Given the description of an element on the screen output the (x, y) to click on. 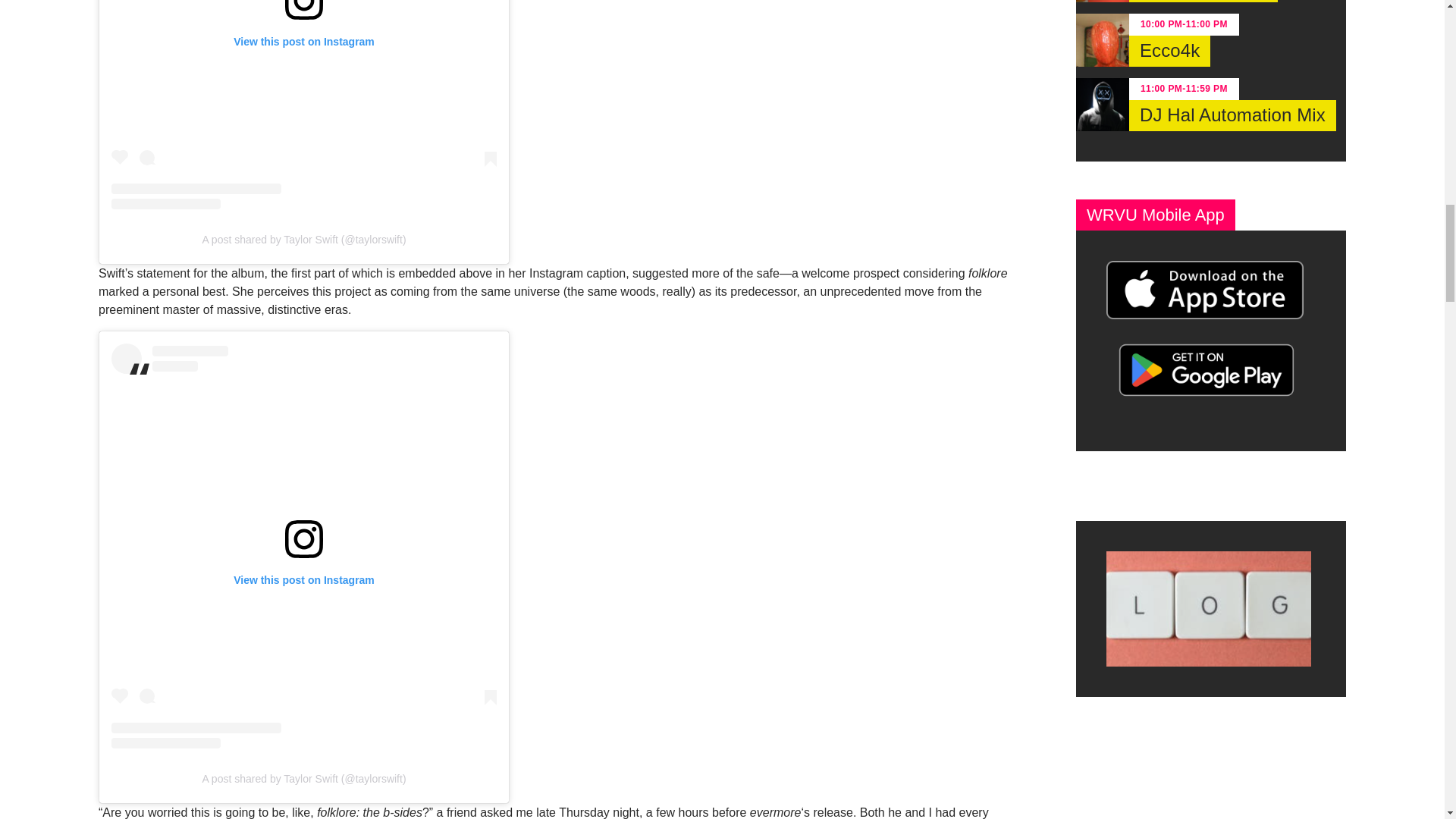
Ecco4k (1169, 51)
View this post on Instagram (304, 104)
DJ Hal Automation Mix (1232, 115)
Nulling the Void (1203, 1)
